Given the description of an element on the screen output the (x, y) to click on. 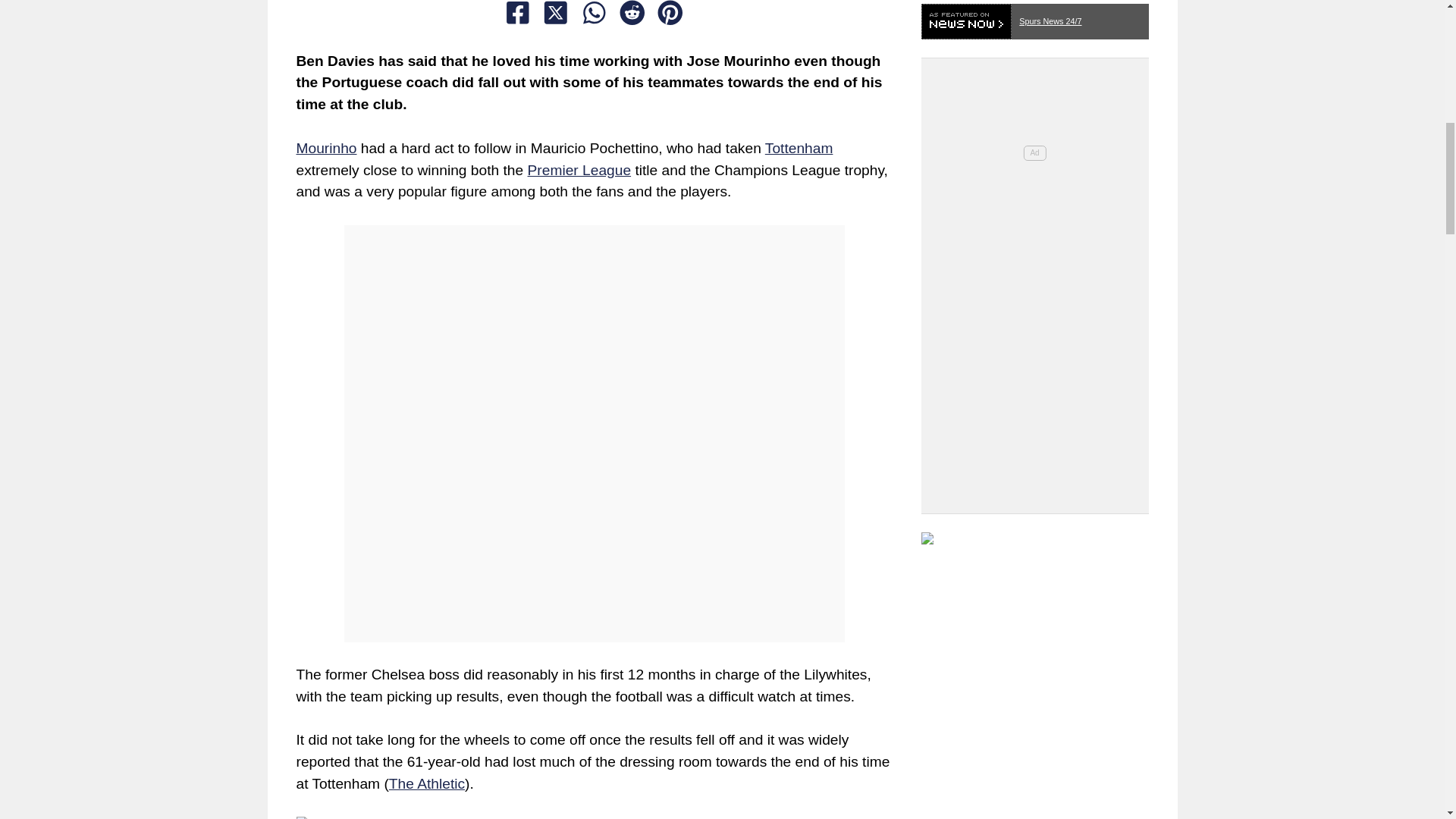
Tottenham (798, 148)
Mourinho (325, 148)
The Athletic (426, 783)
Spurs News (1034, 542)
Click here for more Spurs news from NewsNow (1034, 16)
Premier League (579, 170)
